Given the description of an element on the screen output the (x, y) to click on. 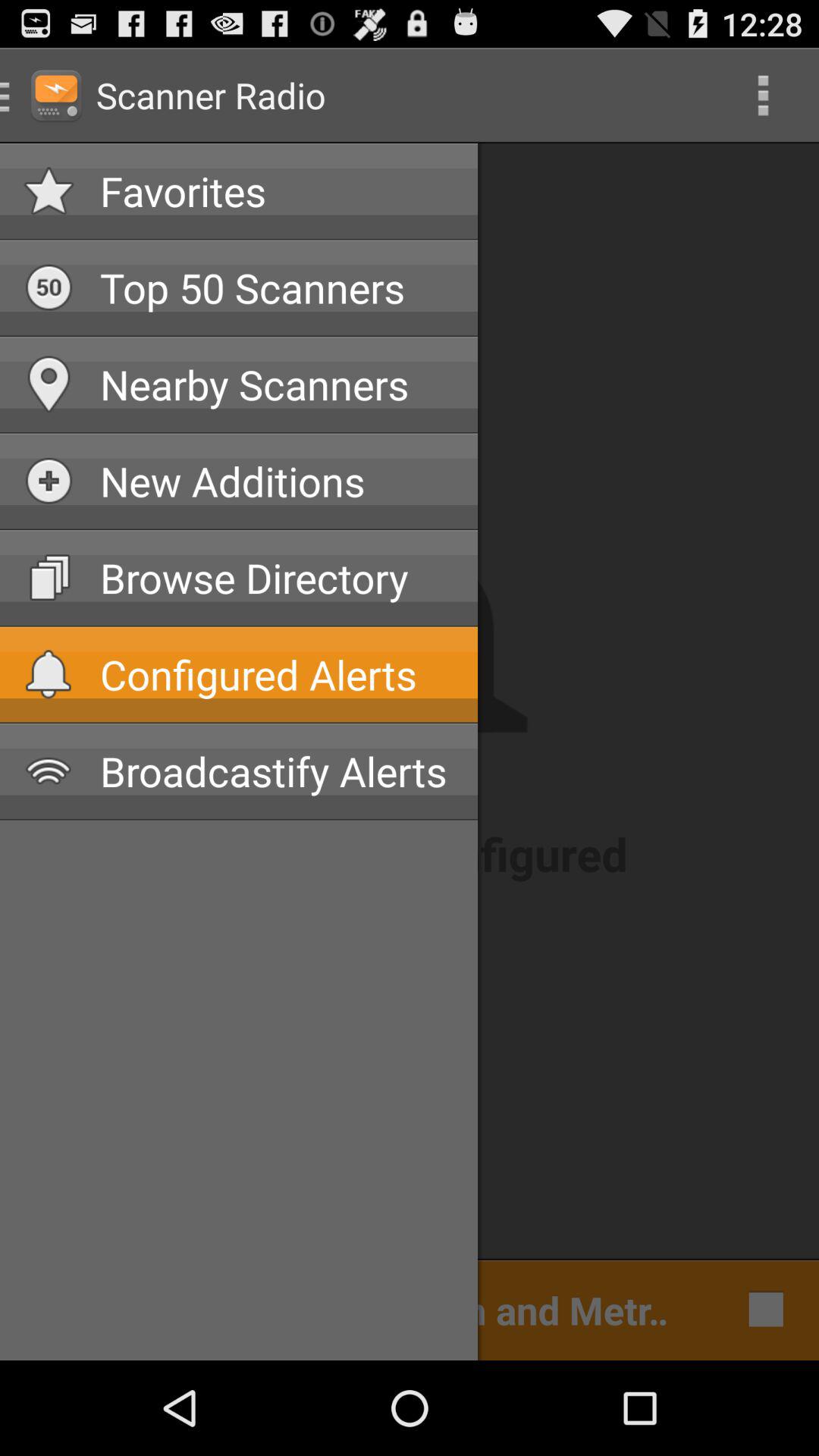
select item below the no alerts configured (352, 1309)
